Given the description of an element on the screen output the (x, y) to click on. 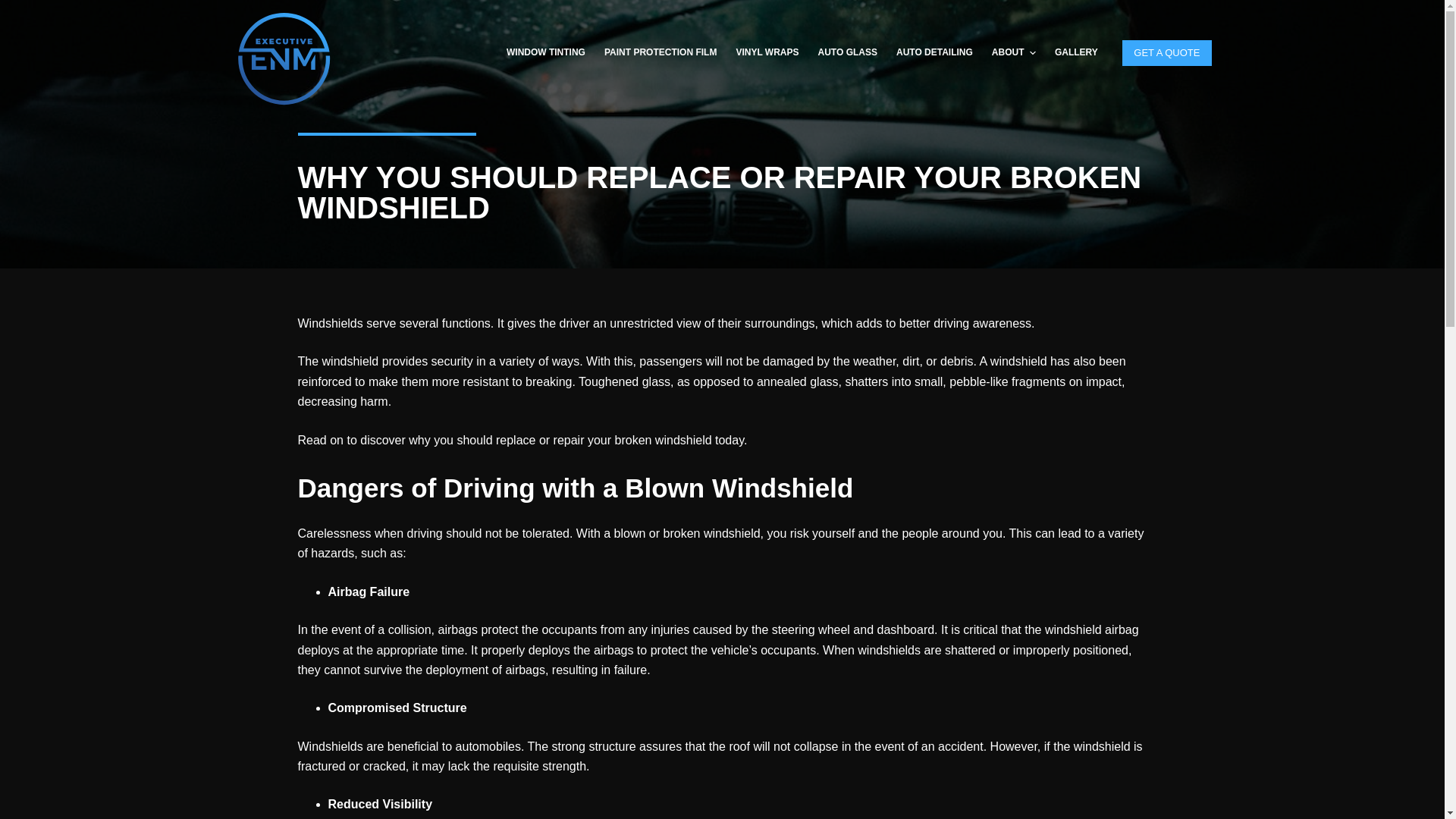
PAINT PROTECTION FILM (659, 52)
Skip to content (15, 7)
GALLERY (1075, 52)
GET A QUOTE (1166, 52)
AUTO DETAILING (933, 52)
ABOUT (1013, 52)
WINDOW TINTING (545, 52)
AUTO GLASS (847, 52)
VINYL WRAPS (767, 52)
